Given the description of an element on the screen output the (x, y) to click on. 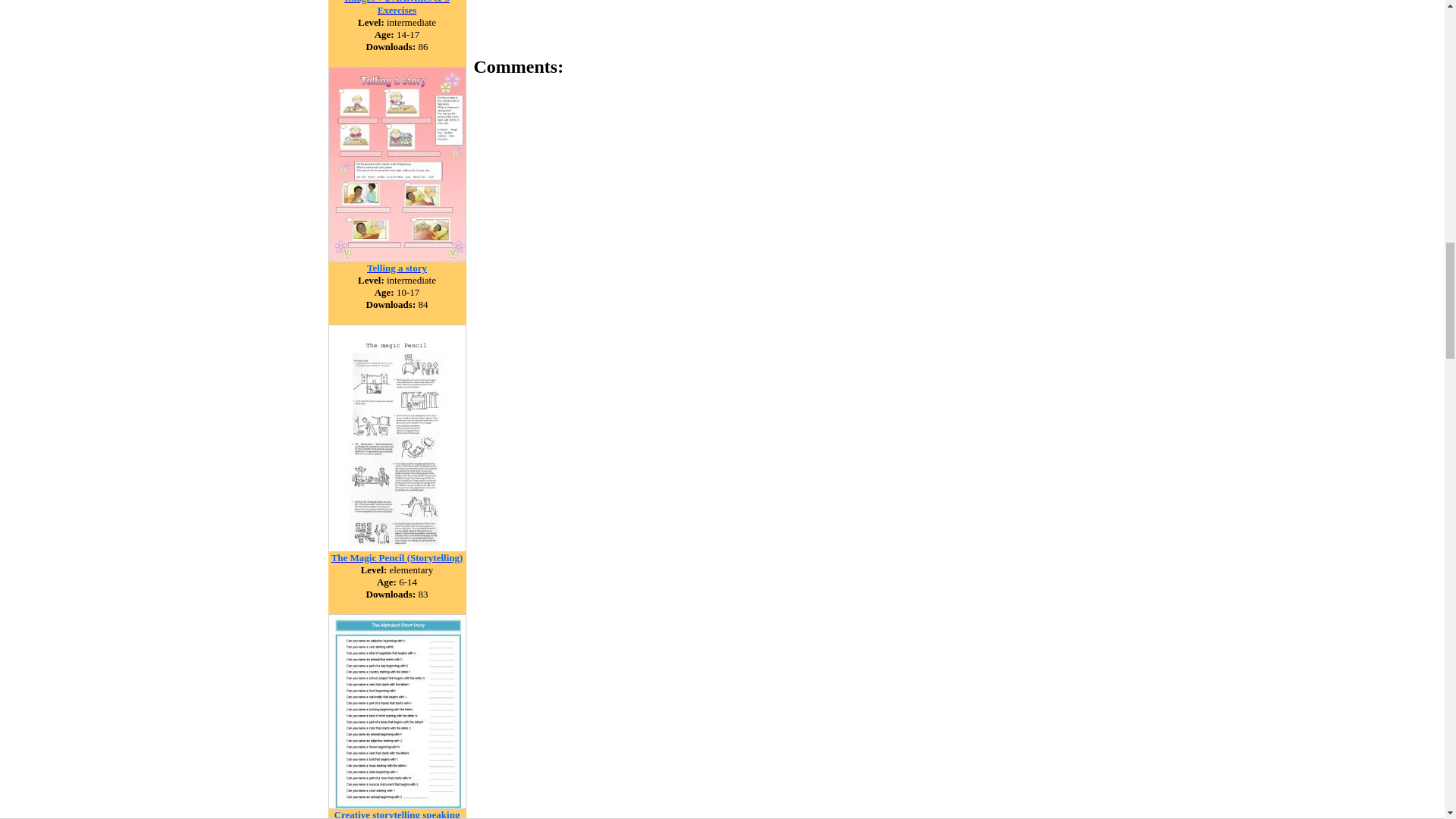
Creative storytelling speaking activity (397, 813)
Telling a story (396, 267)
Telling a story (396, 257)
Telling a story (396, 267)
